Given the description of an element on the screen output the (x, y) to click on. 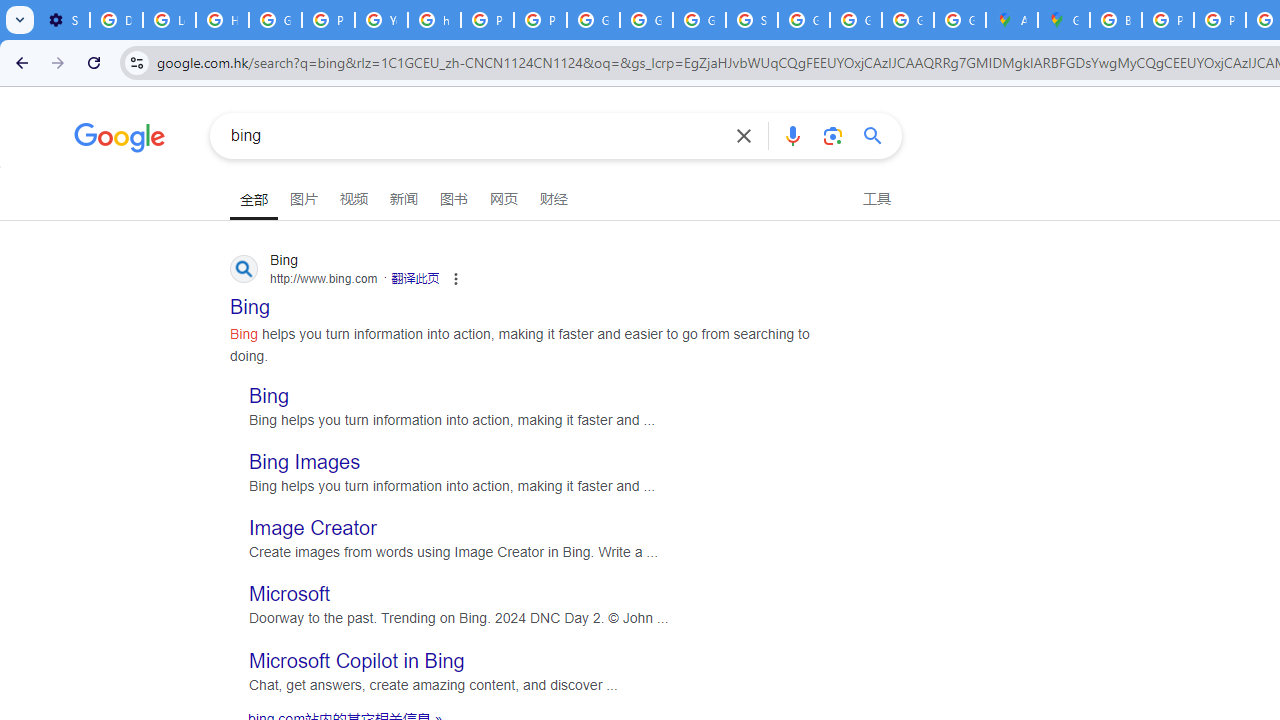
Google Maps (1064, 20)
Settings - Customize profile (63, 20)
Delete photos & videos - Computer - Google Photos Help (116, 20)
Google (120, 139)
Microsoft Copilot in Bing (356, 659)
